Given the description of an element on the screen output the (x, y) to click on. 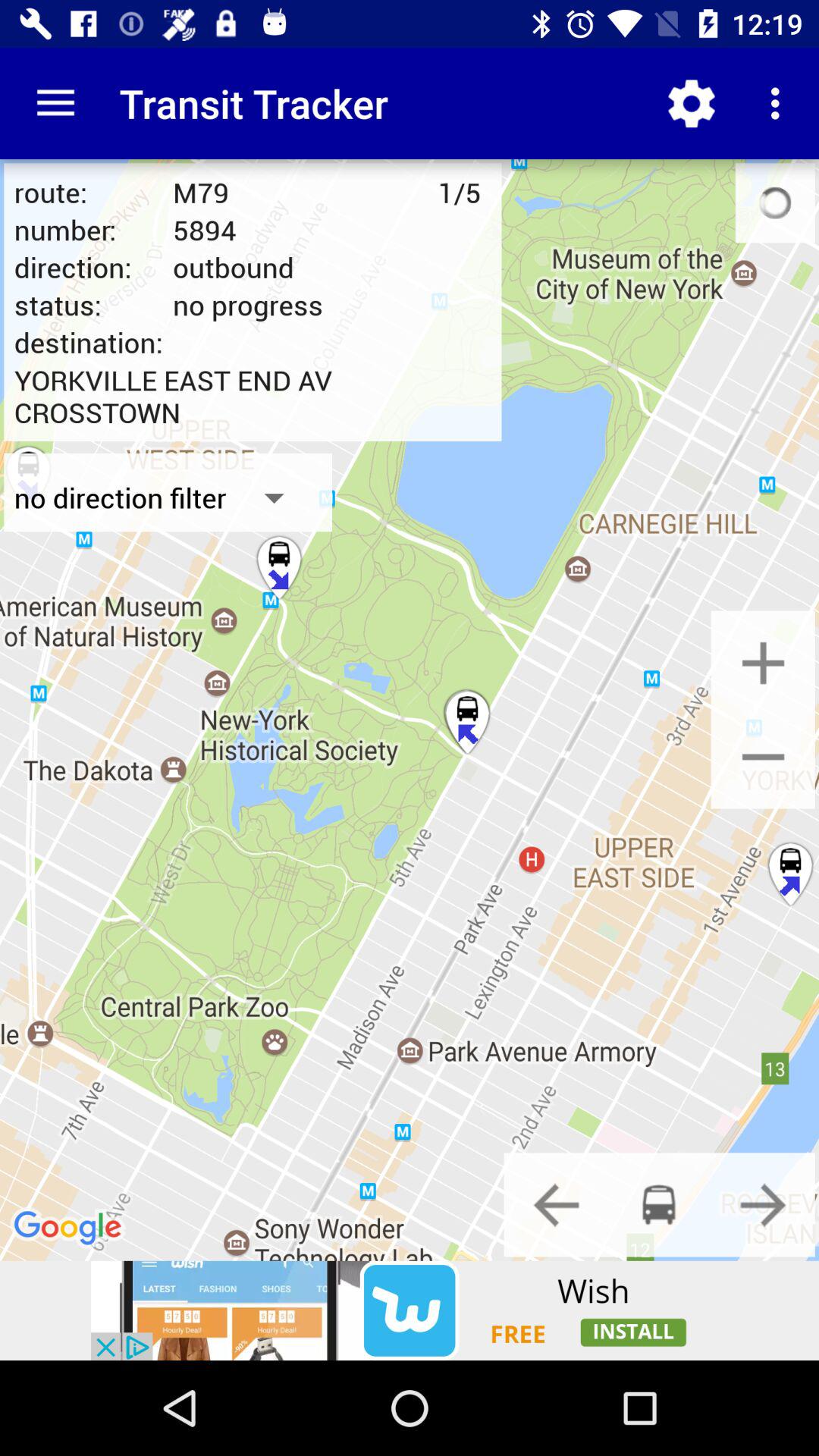
change mode of travel (762, 1204)
